Given the description of an element on the screen output the (x, y) to click on. 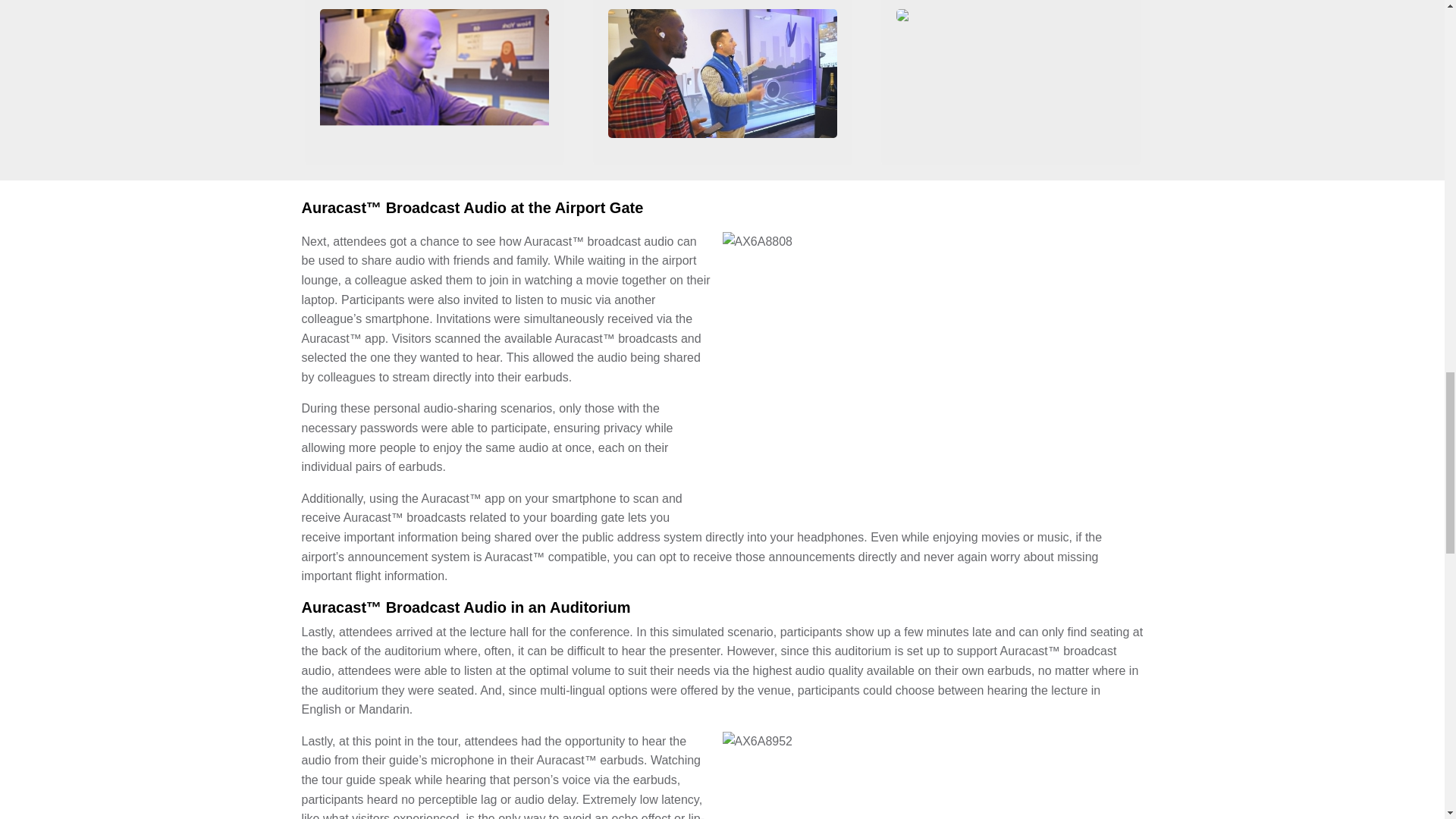
AX6A8952 (932, 775)
AX6A8808 (932, 371)
